Given the description of an element on the screen output the (x, y) to click on. 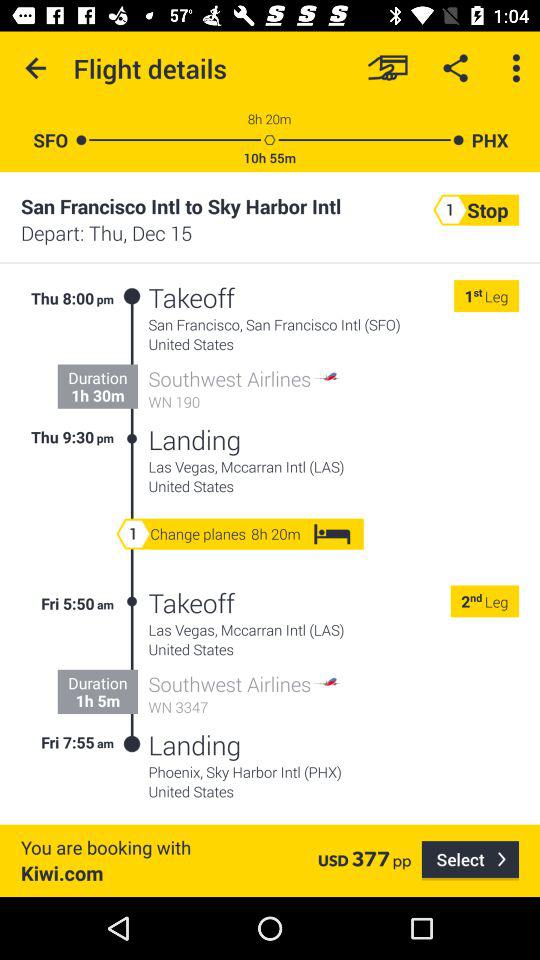
tap item to the right of 2 icon (476, 600)
